Given the description of an element on the screen output the (x, y) to click on. 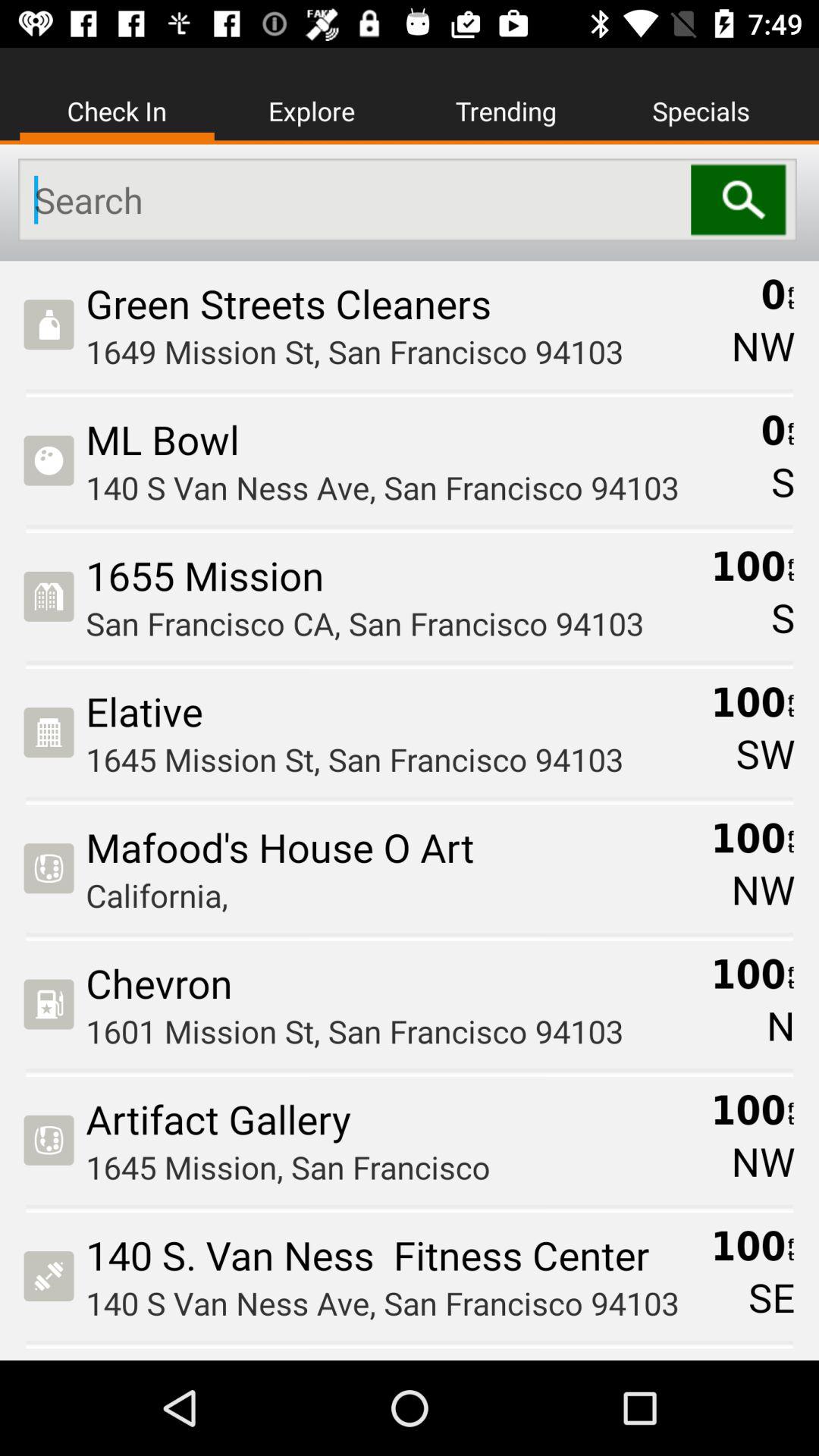
tap the item above 1649 mission st (403, 302)
